Given the description of an element on the screen output the (x, y) to click on. 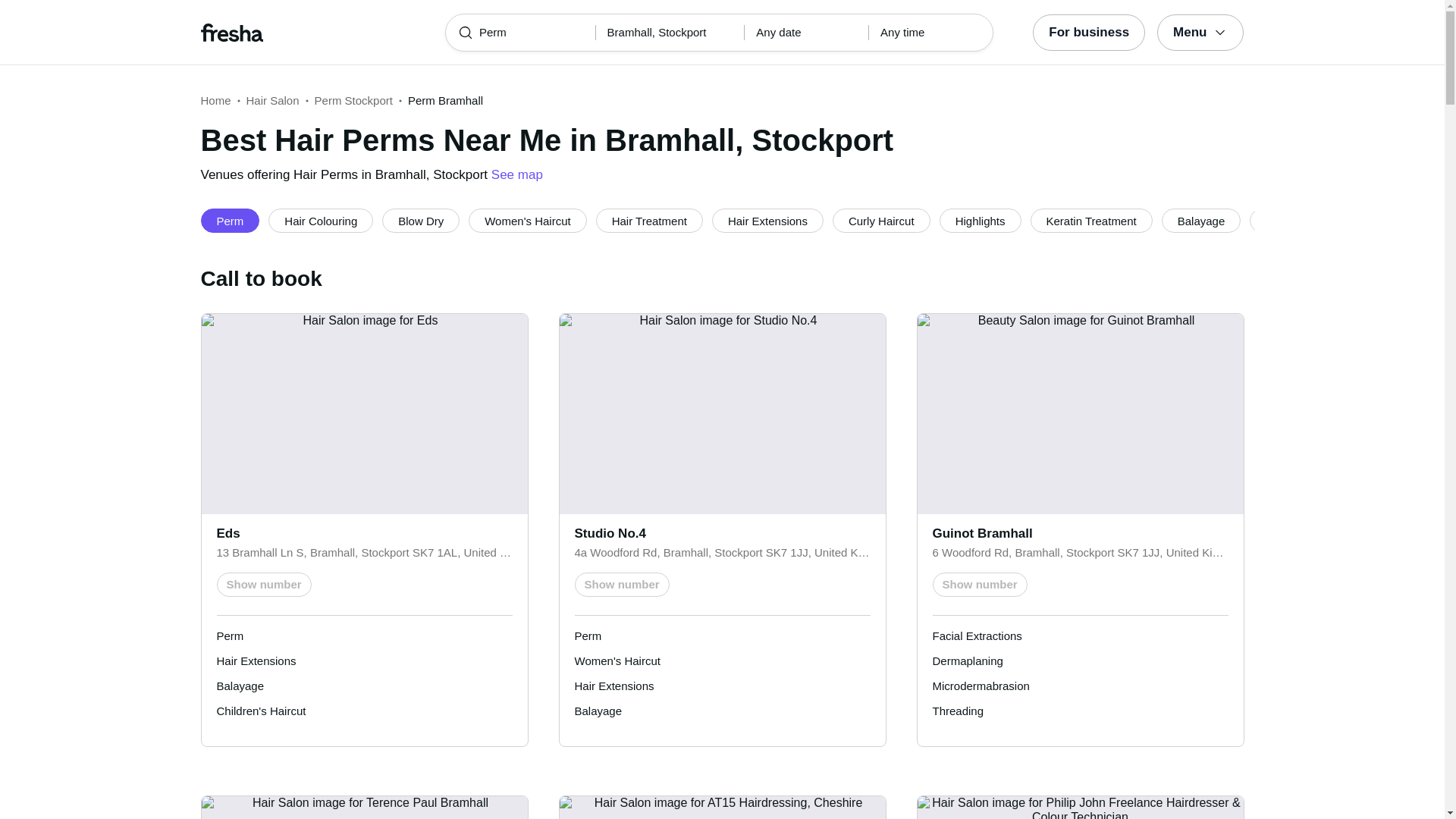
Highlights (980, 220)
Blow Dry (420, 220)
Women's Haircut (527, 220)
Women's Haircut (527, 220)
Home (215, 100)
Hair Extensions (767, 220)
Hair Treatment (649, 220)
Fresha (302, 31)
Hair Colouring (319, 220)
Curly Haircut (881, 220)
